Given the description of an element on the screen output the (x, y) to click on. 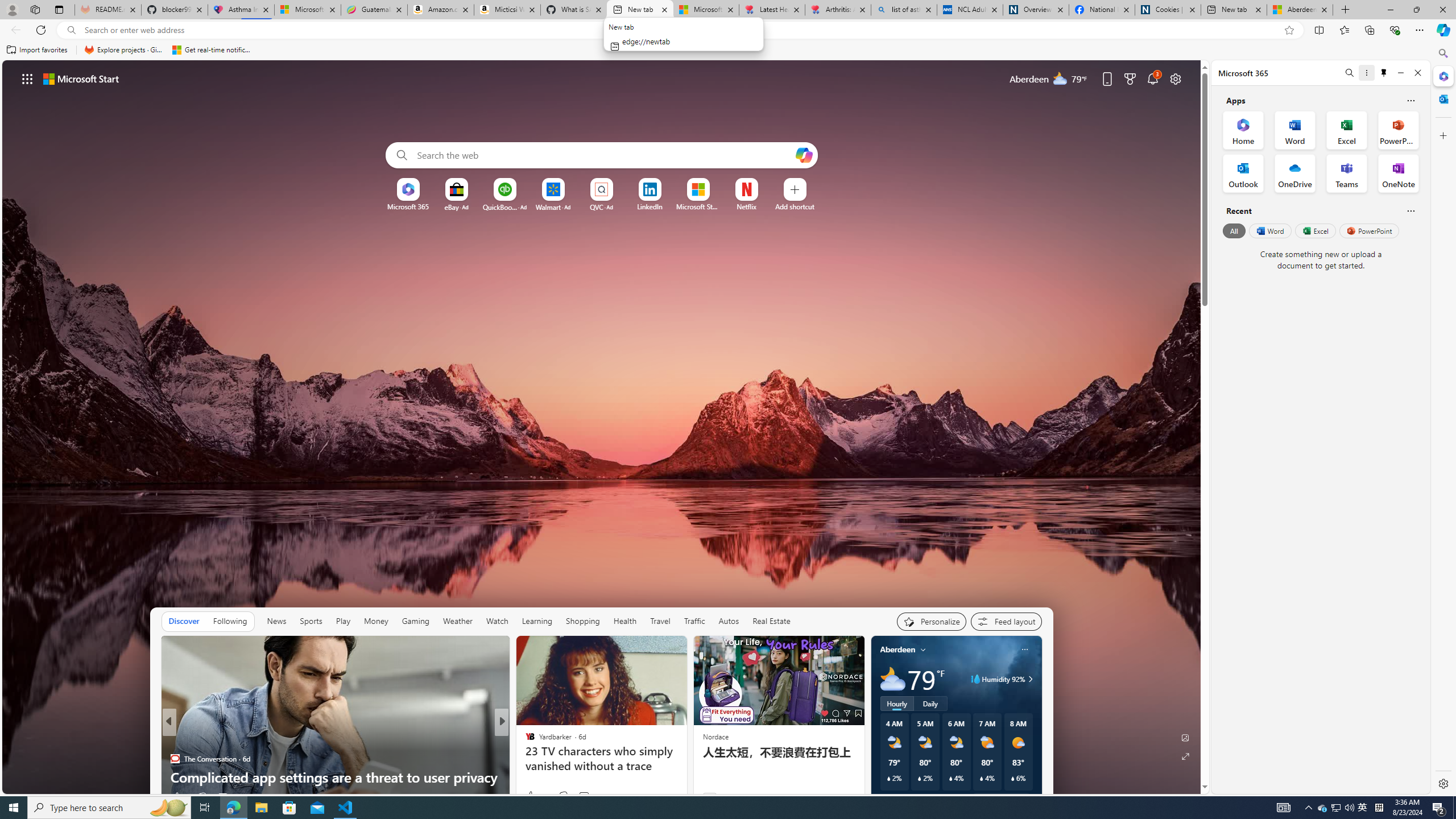
Billboard (524, 740)
Teams Office App (1346, 172)
View comments 7 Comment (583, 796)
The Conversation (174, 758)
Feed settings (1005, 621)
Cookies | About | NICE (1167, 9)
